Given the description of an element on the screen output the (x, y) to click on. 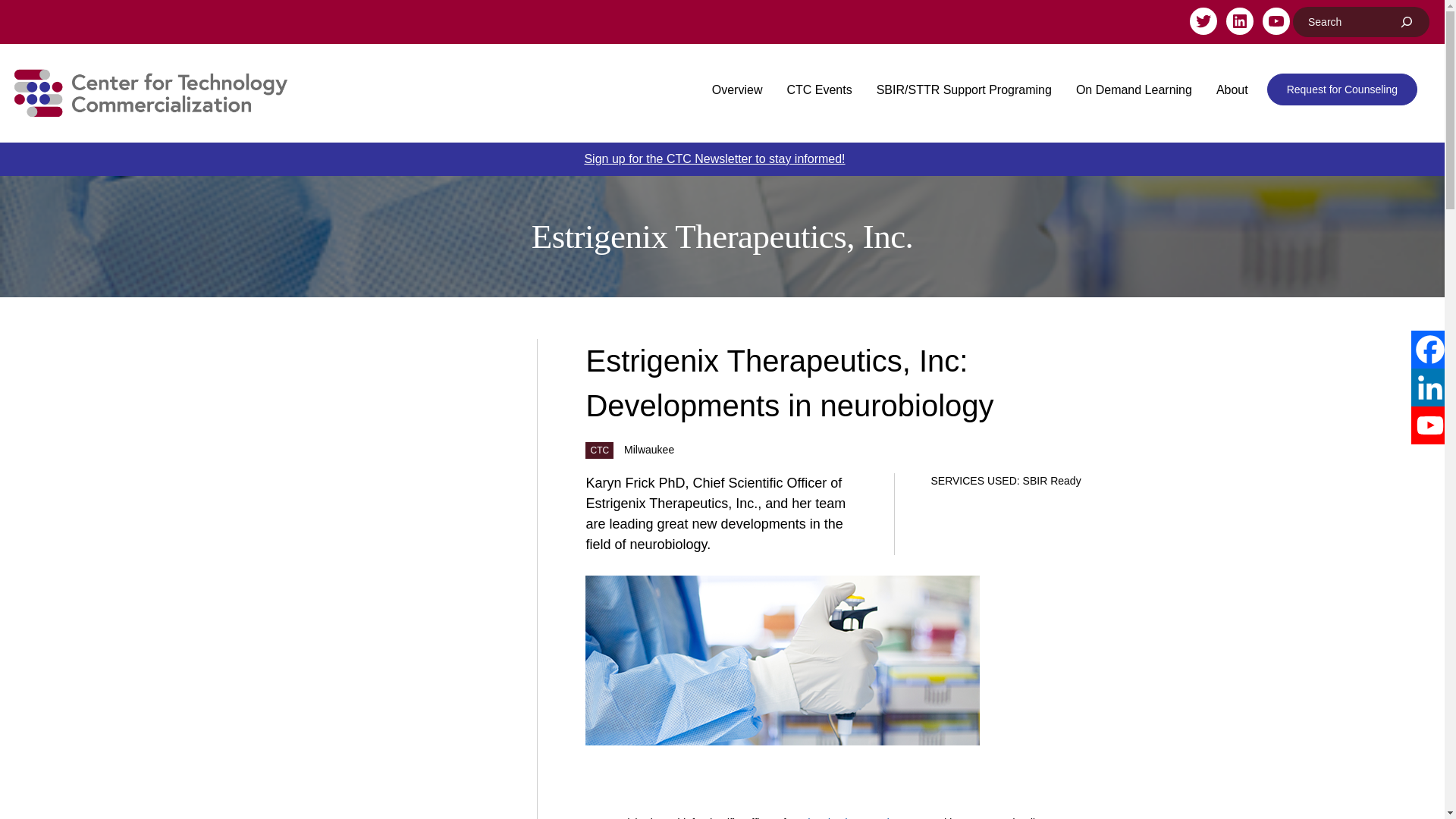
Overview (737, 90)
Twitter (1203, 21)
CTC Events (818, 90)
LinkedIn (1239, 21)
YouTube (1276, 21)
About (1232, 90)
Sign up for the CTC Newsletter to stay informed! (713, 158)
On Demand Learning (1134, 90)
Request for Counseling (1341, 89)
